Given the description of an element on the screen output the (x, y) to click on. 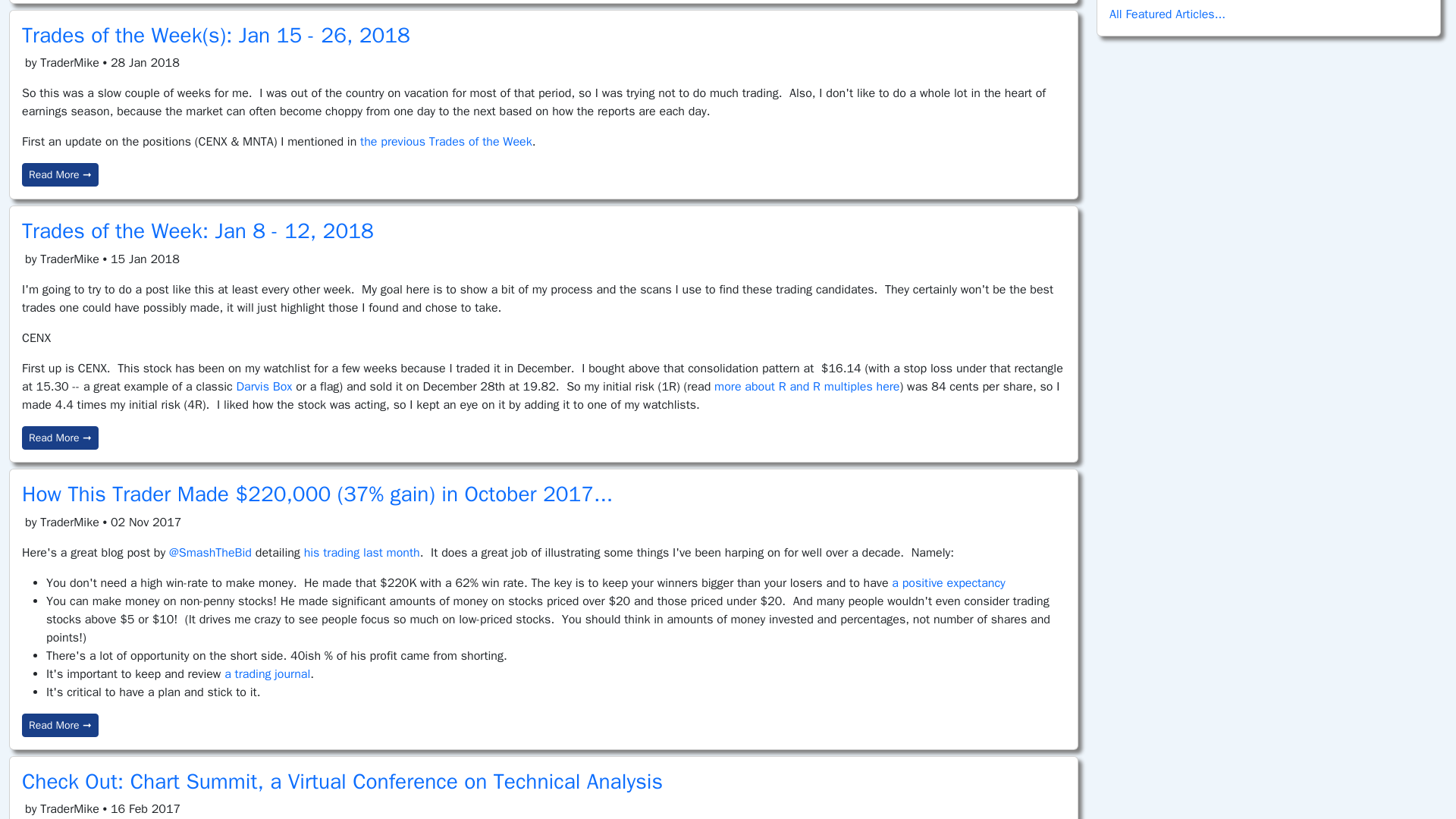
the previous Trades of the Week (445, 141)
